Given the description of an element on the screen output the (x, y) to click on. 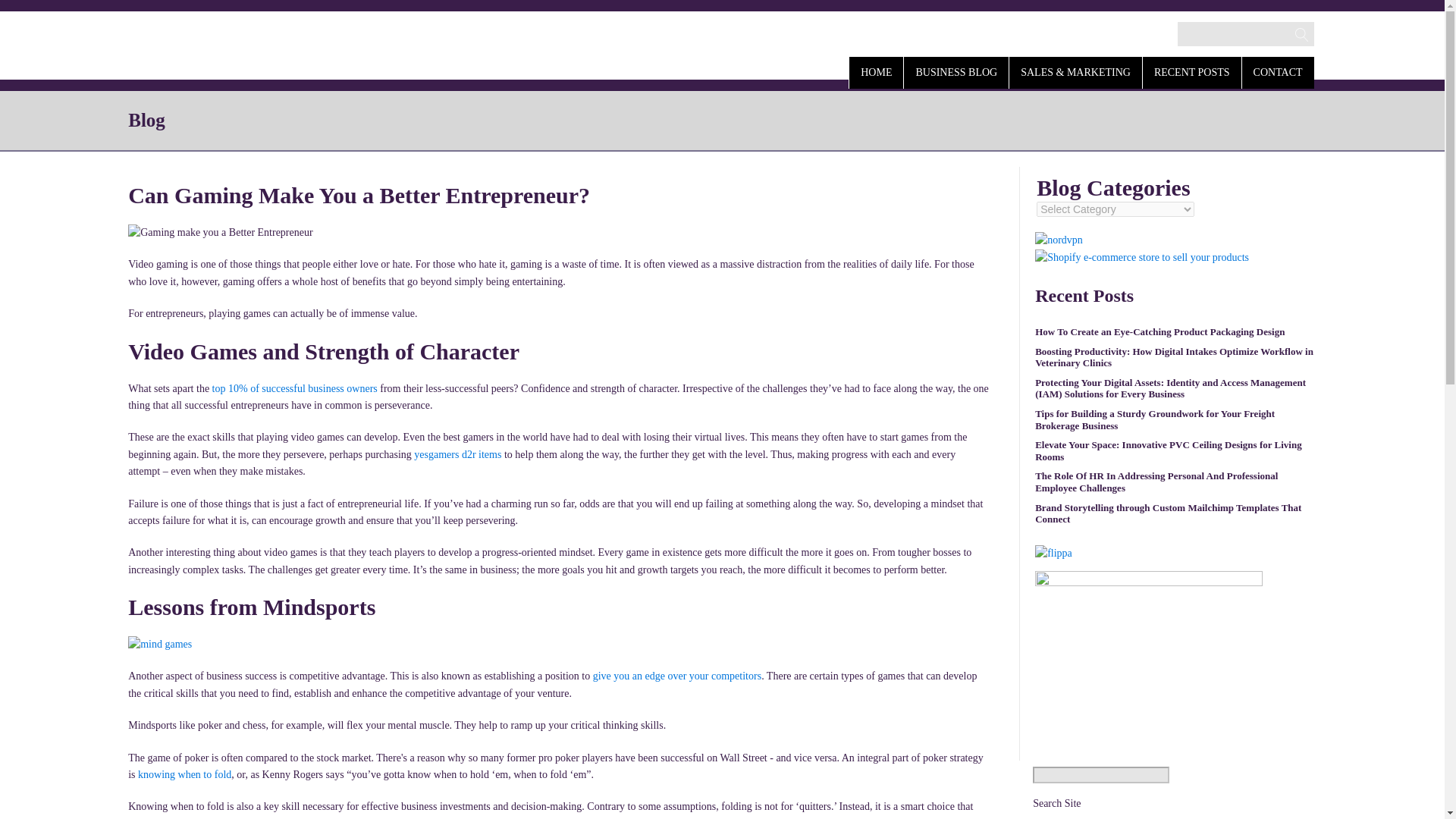
HOME (875, 71)
BUSINESS BLOG (956, 71)
Search (27, 12)
